Given the description of an element on the screen output the (x, y) to click on. 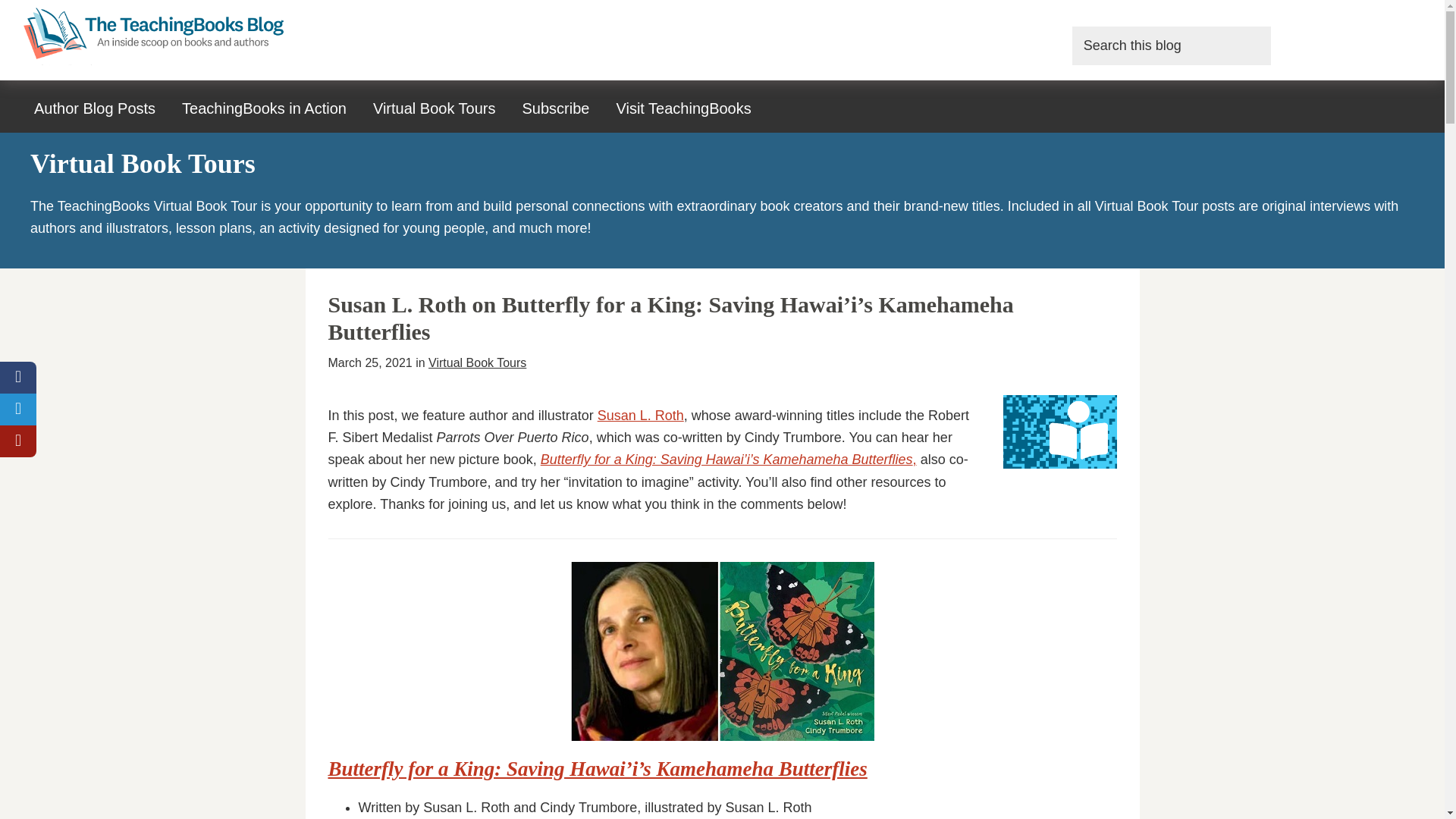
Virtual Book Tours (476, 362)
Subscribe (556, 108)
Author Blog Posts (95, 108)
TeachingBooks in Action (264, 108)
Susan L. Roth (640, 415)
Visit TeachingBooks (682, 108)
Virtual Book Tours (433, 108)
